Given the description of an element on the screen output the (x, y) to click on. 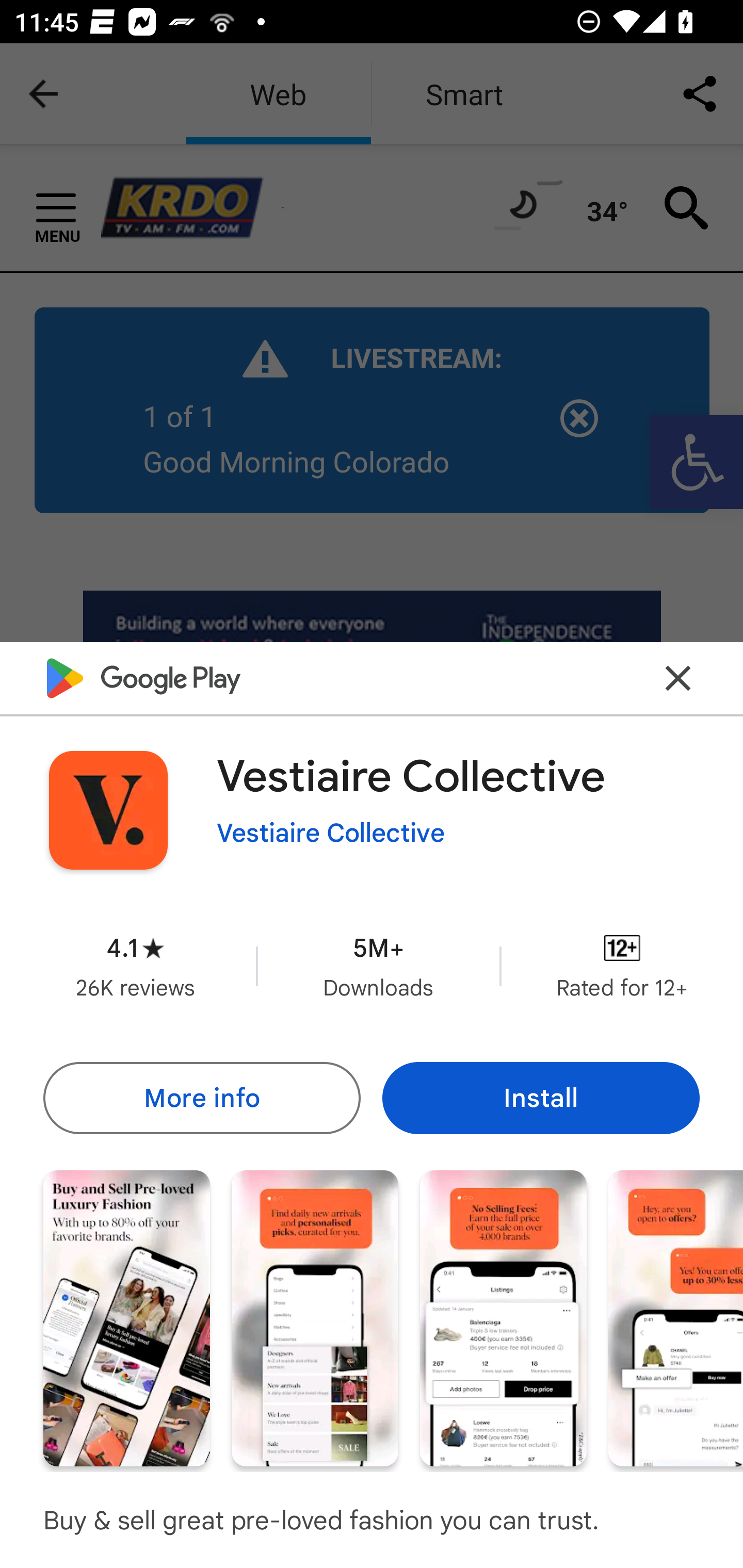
Close (677, 678)
Image of app or game icon for Vestiaire Collective (108, 809)
More info (201, 1097)
Install (540, 1097)
Screenshot "1" of "8" (126, 1317)
Screenshot "2" of "8" (314, 1317)
Screenshot "3" of "8" (502, 1317)
Screenshot "4" of "8" (675, 1317)
